Given the description of an element on the screen output the (x, y) to click on. 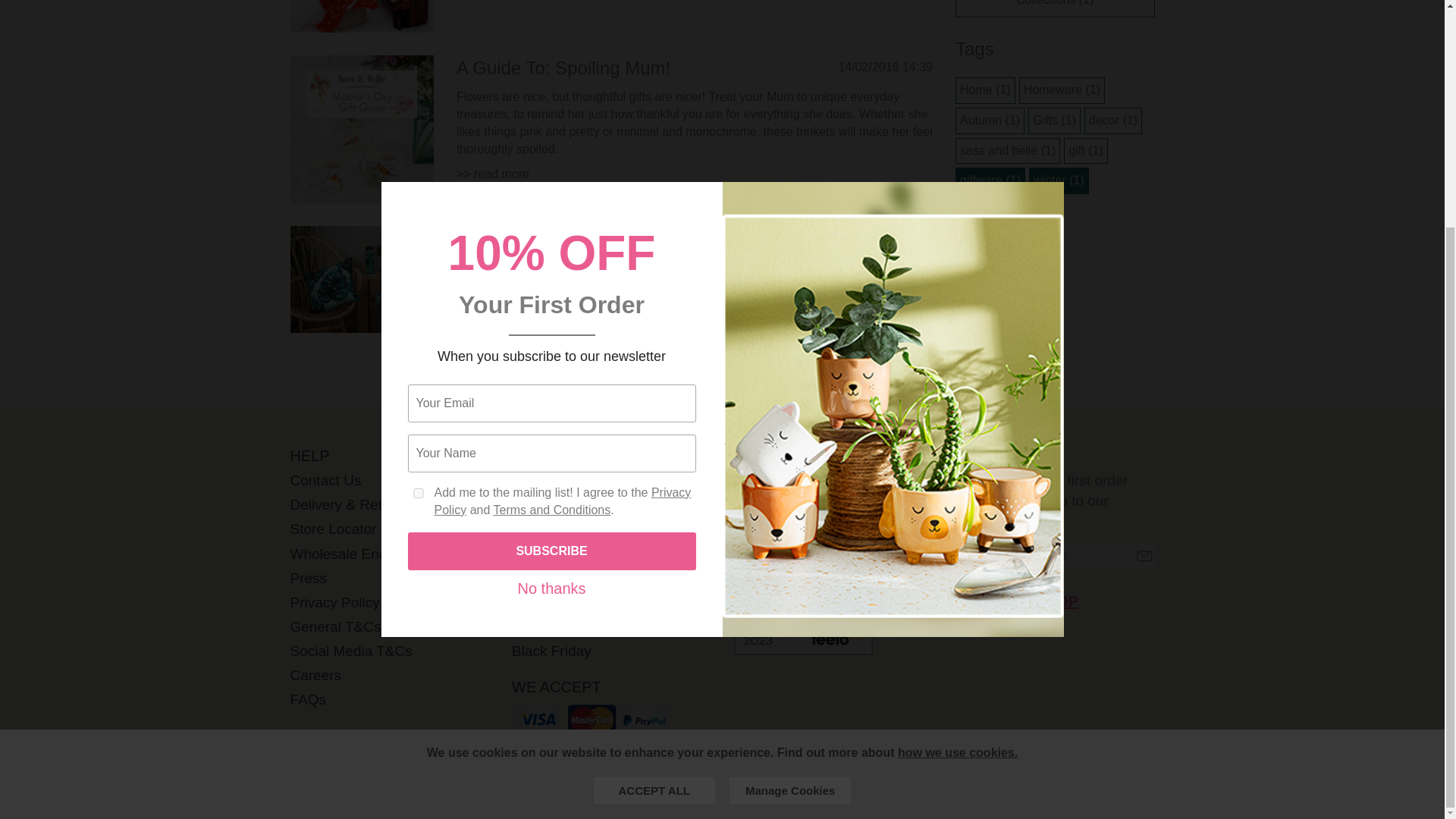
privacy (957, 447)
1 (418, 188)
ACCEPT ALL (654, 485)
how we use cookies. (957, 447)
Privacy Policy (561, 195)
SUBSCRIBE (551, 246)
No thanks (551, 283)
Manage Cookies (789, 485)
Terms and Conditions (551, 205)
